Given the description of an element on the screen output the (x, y) to click on. 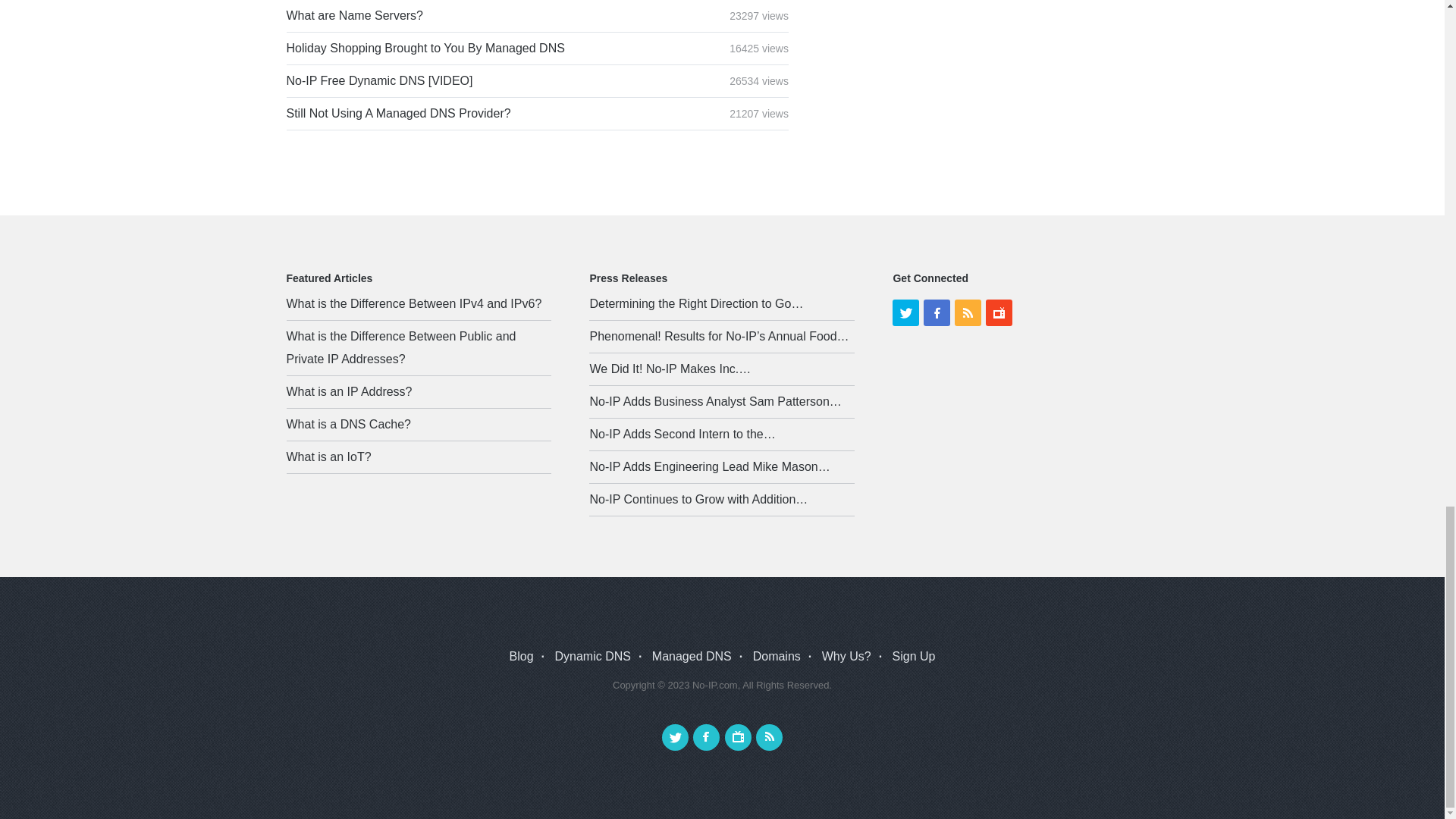
Permalink to Still Not Using A Managed DNS Provider? (398, 113)
Permalink to What are Name Servers? (354, 15)
Still Not Using A Managed DNS Provider? (398, 113)
Holiday Shopping Brought to You By Managed DNS (425, 47)
Facebook (936, 312)
Permalink to Holiday Shopping Brought to You By Managed DNS (425, 47)
Twitter (905, 312)
What are Name Servers? (354, 15)
